Given the description of an element on the screen output the (x, y) to click on. 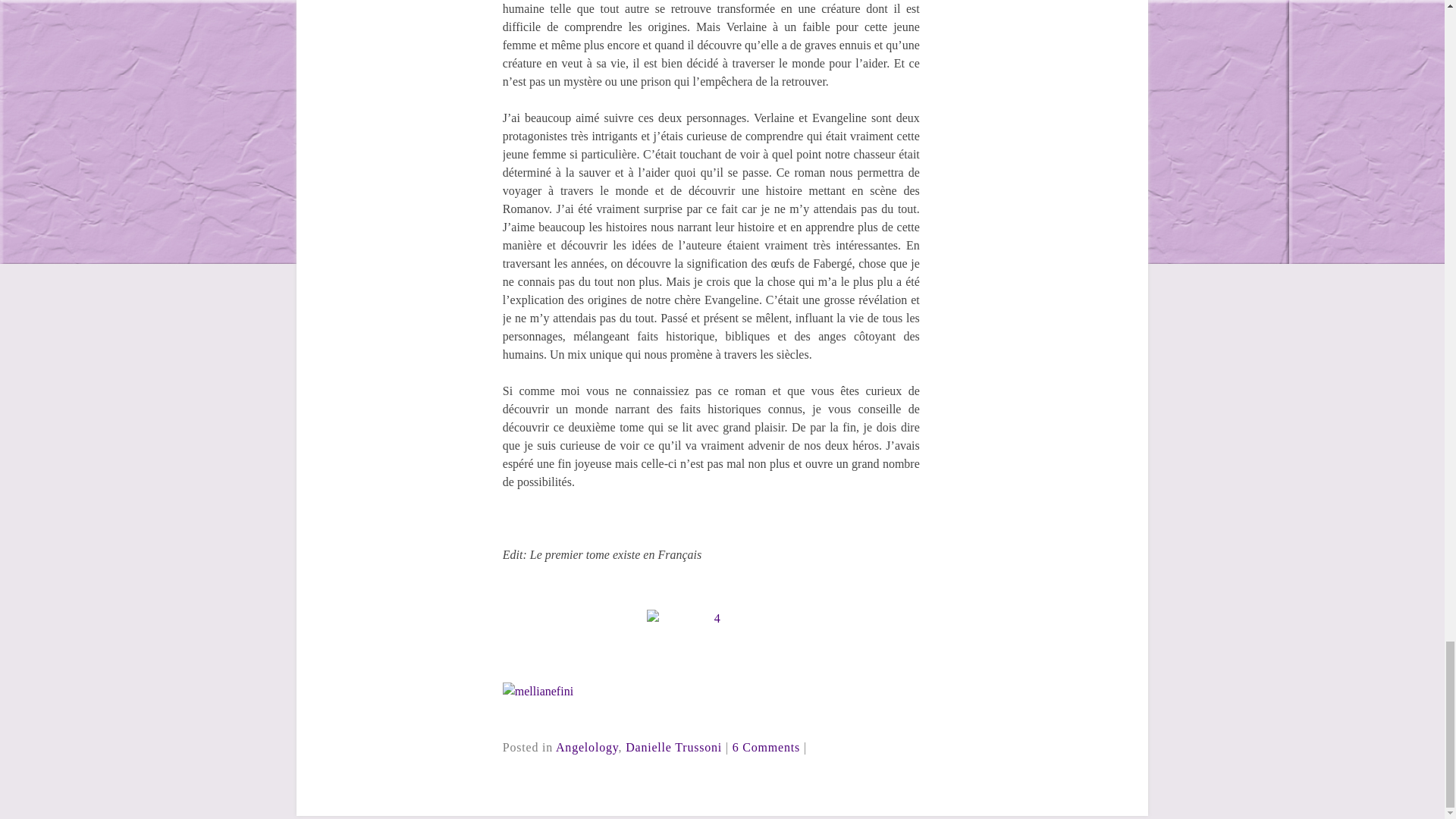
6 Comments (765, 747)
Danielle Trussoni (674, 747)
Angelology (587, 747)
